Given the description of an element on the screen output the (x, y) to click on. 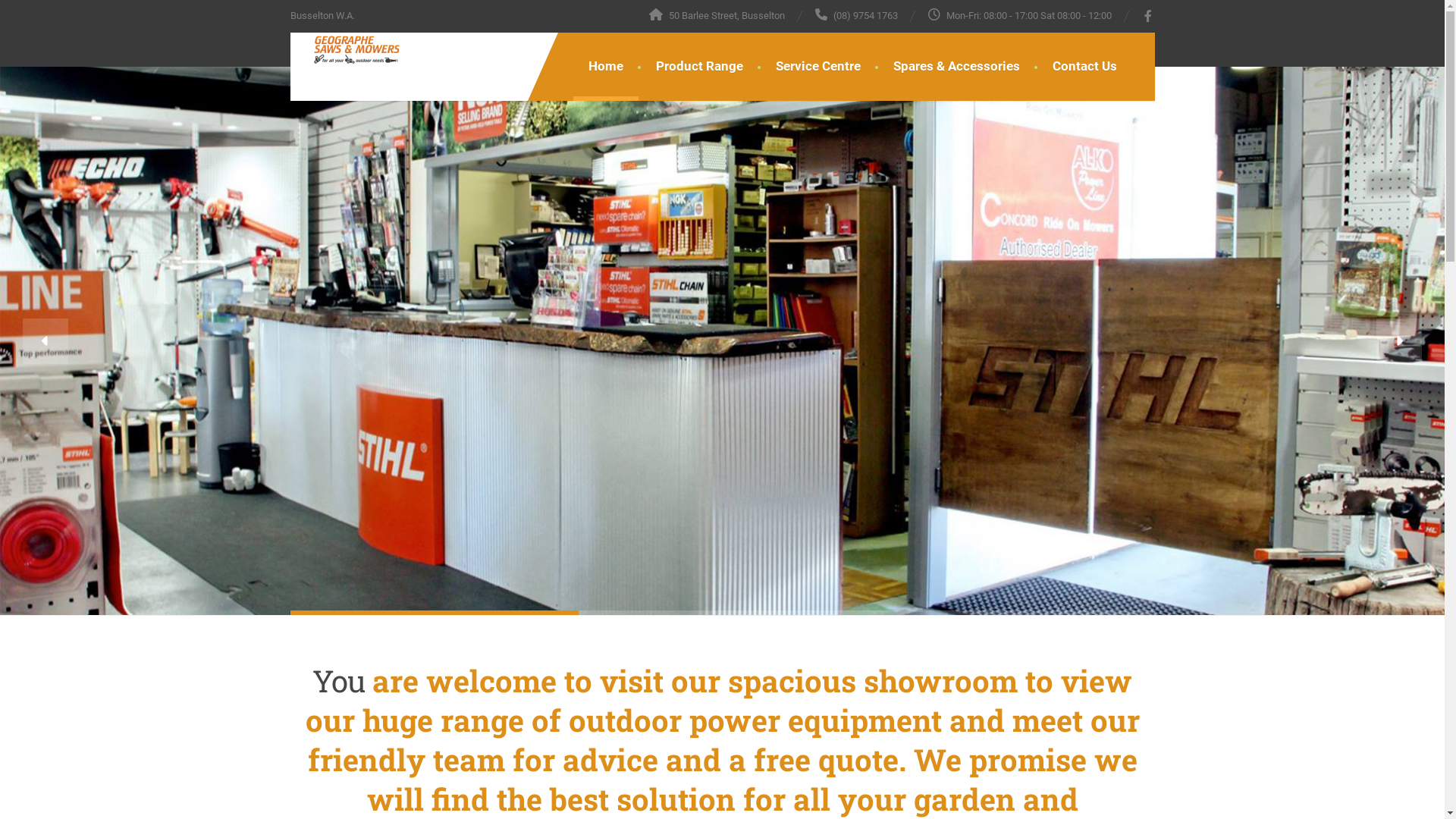
Service Centre Element type: text (817, 66)
(08) 9754 1763 Element type: text (855, 15)
Contact Us Element type: text (1084, 66)
Home Element type: text (605, 66)
Product Range Element type: text (698, 66)
Geographe Saws & Mowers Element type: hover (344, 49)
Spares & Accessories Element type: text (956, 66)
